Given the description of an element on the screen output the (x, y) to click on. 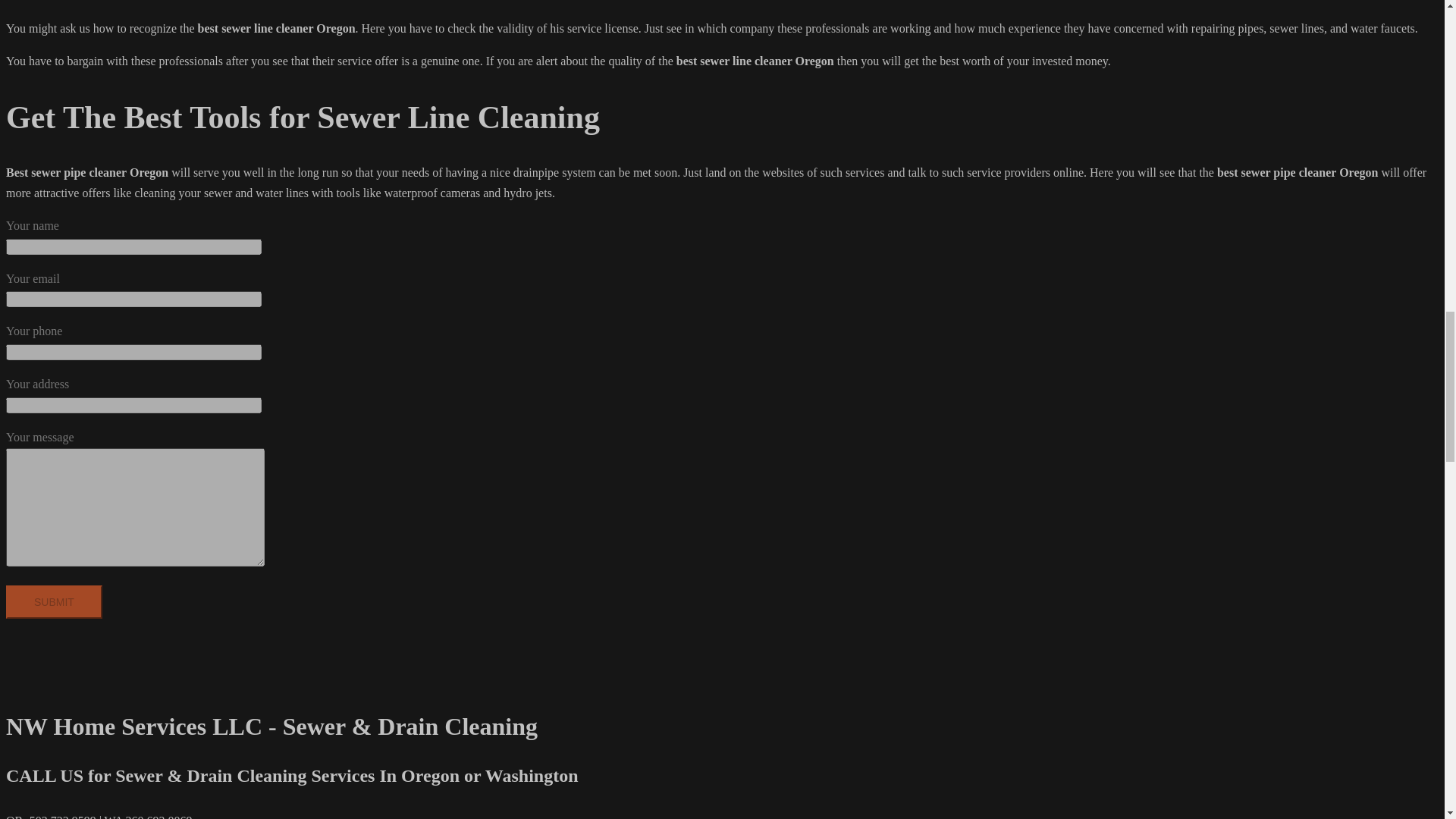
503.722.9599 (62, 816)
Submit (53, 602)
360.693.0069 (158, 816)
Submit (53, 602)
